Given the description of an element on the screen output the (x, y) to click on. 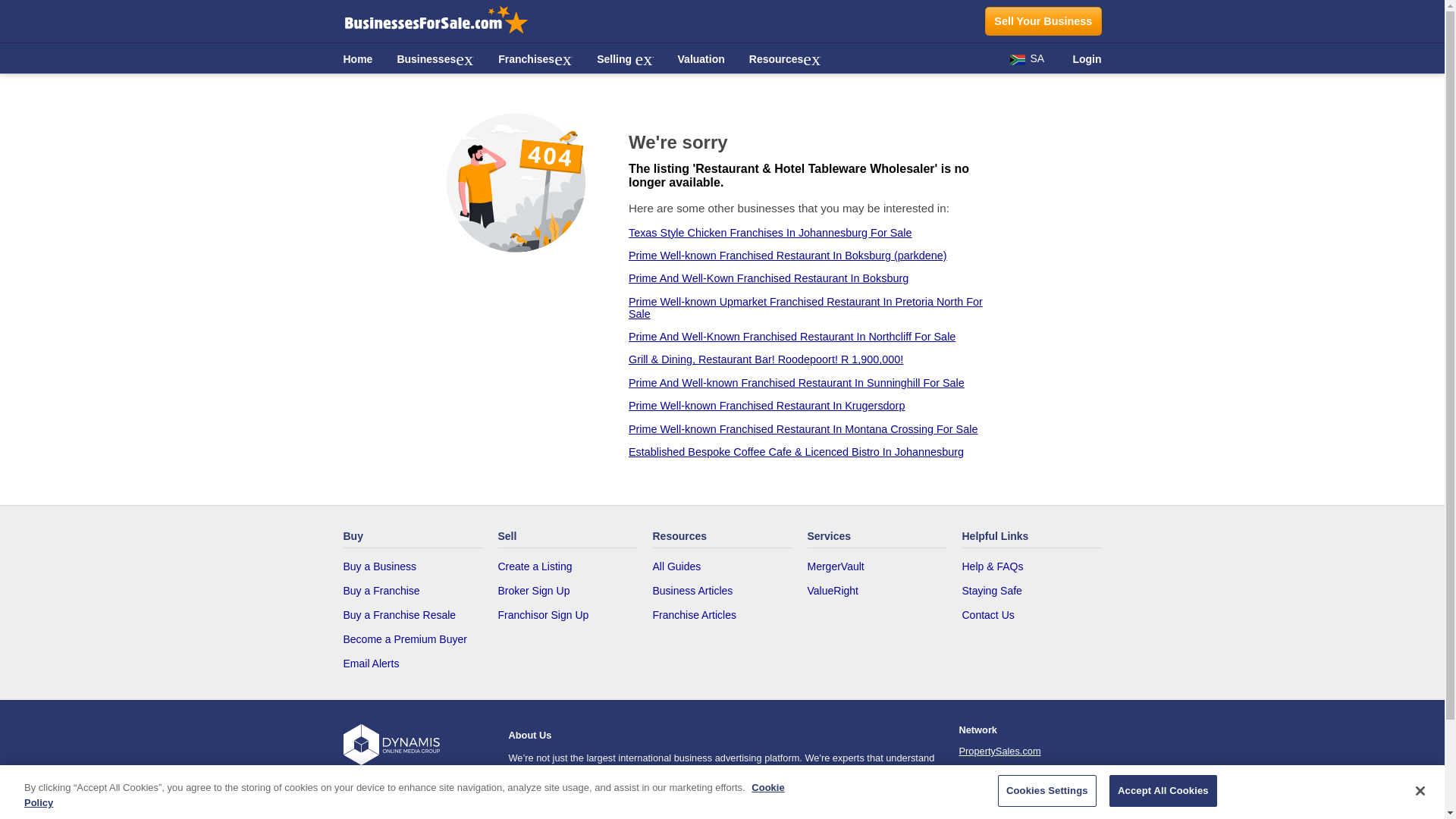
Home (357, 58)
Sell Your Business (1042, 20)
